Given the description of an element on the screen output the (x, y) to click on. 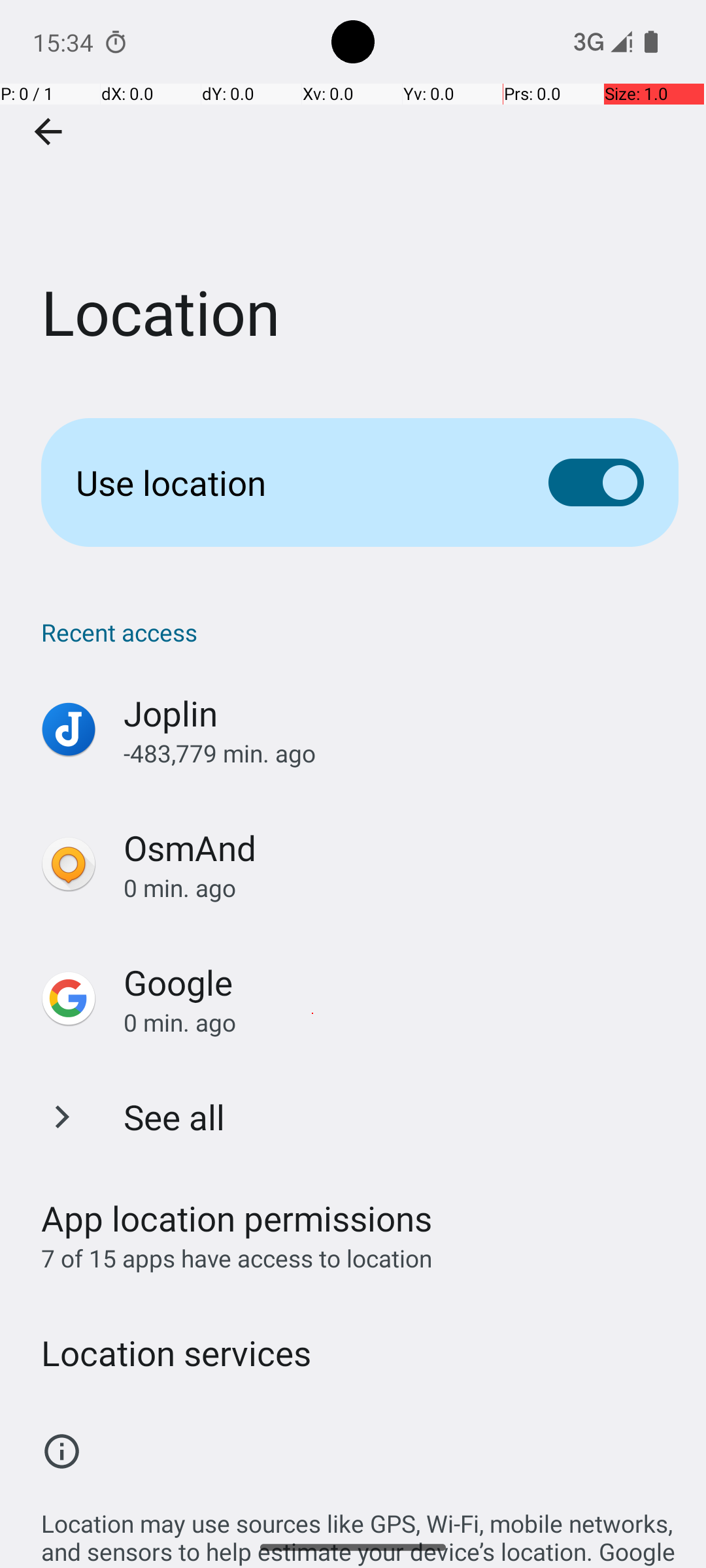
Use location Element type: android.widget.TextView (291, 482)
Recent access Element type: android.widget.TextView (359, 631)
-483,779 min. ago Element type: android.widget.TextView (400, 752)
App location permissions Element type: android.widget.TextView (236, 1217)
7 of 15 apps have access to location Element type: android.widget.TextView (236, 1257)
Location services Element type: android.widget.TextView (176, 1352)
Location may use sources like GPS, Wi‑Fi, mobile networks, and sensors to help estimate your device’s location. Google may collect location data periodically and use this data in an anonymous way to improve location accuracy and location-based services.

Apps with the Nearby devices permission can determine the relative position of connected devices. Element type: android.widget.TextView (359, 1502)
